Given the description of an element on the screen output the (x, y) to click on. 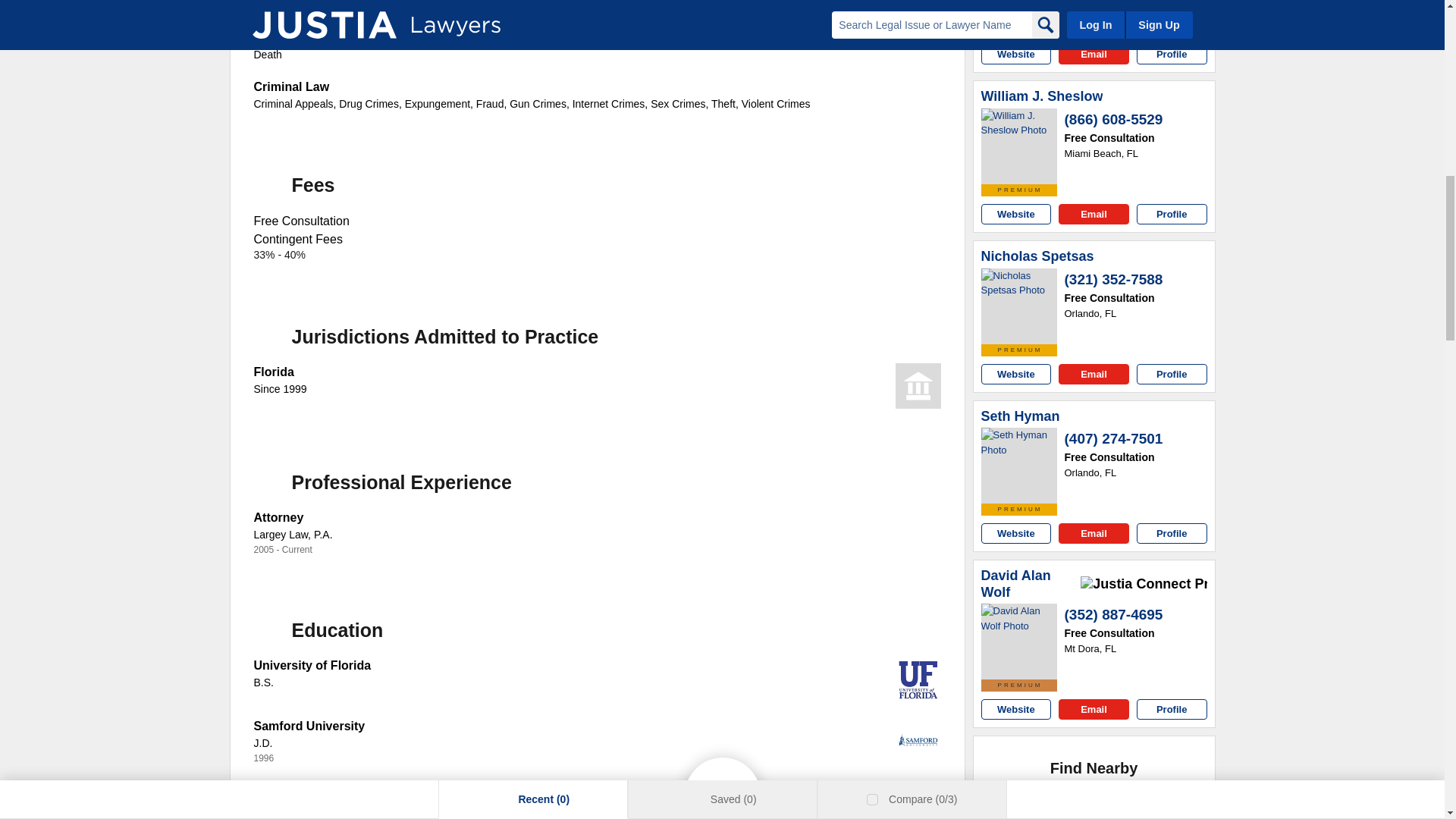
Robert G. Whittel (1019, 12)
